Given the description of an element on the screen output the (x, y) to click on. 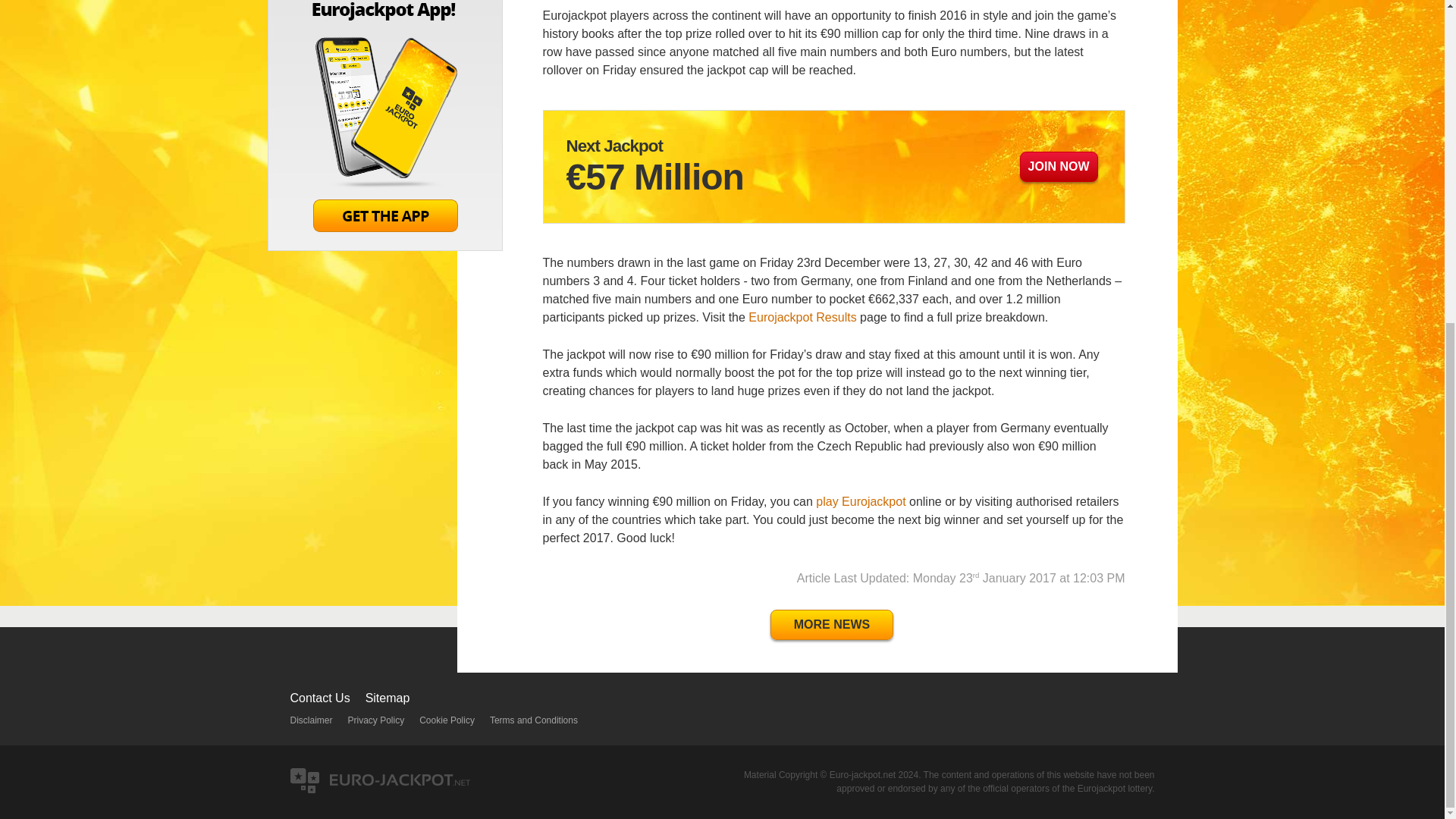
JOIN NOW (1058, 166)
Eurojackpot Results (802, 317)
play Eurojackpot (861, 501)
